Given the description of an element on the screen output the (x, y) to click on. 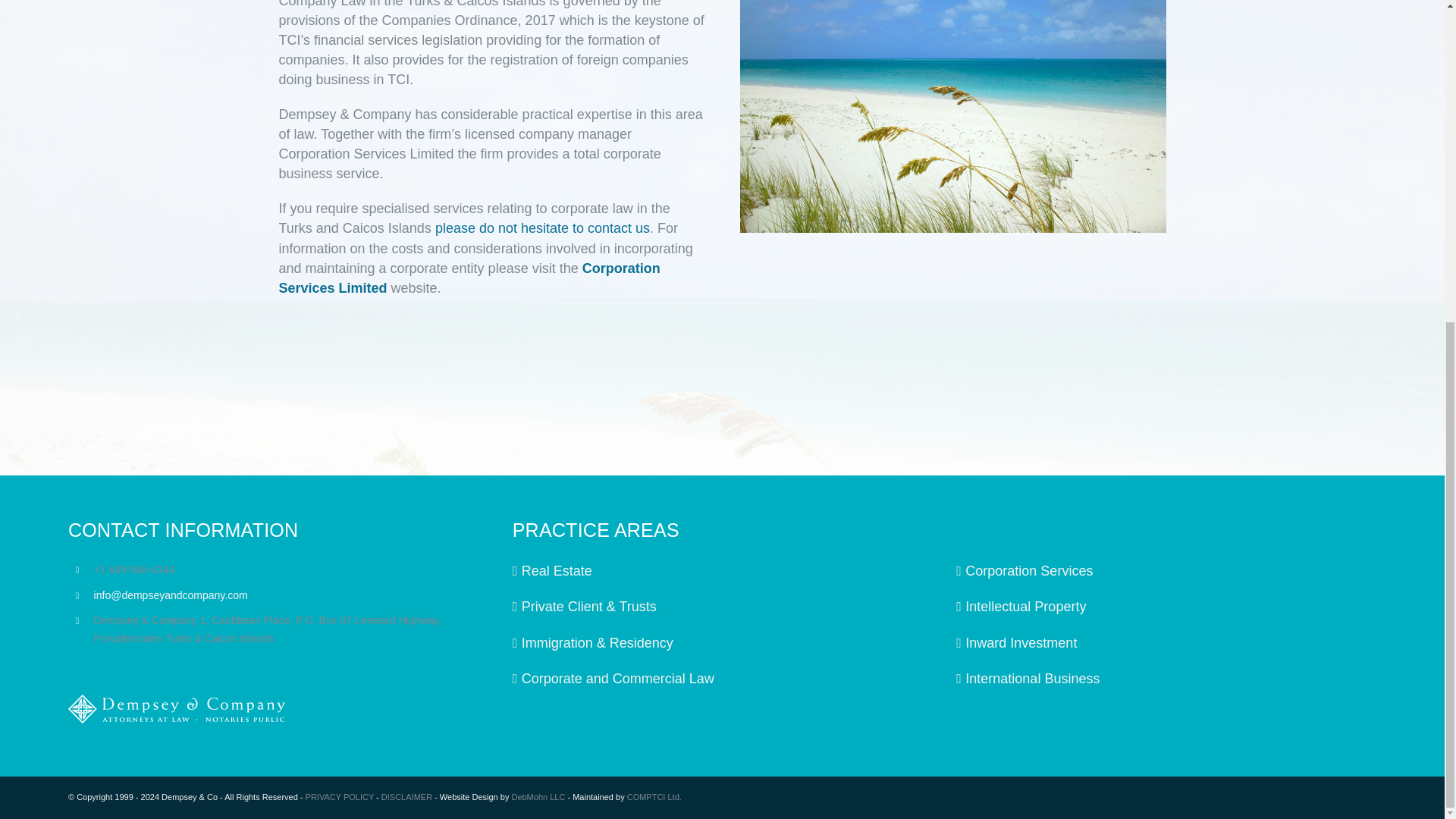
DISCLAIMER (406, 796)
Corporate and Commercial Law (722, 678)
please do not hesitate to contact us (542, 227)
website01 (952, 116)
Corporation Services Limited (468, 278)
International Business (1166, 678)
Corporation Services (1166, 570)
Intellectual Property (1166, 606)
COMPTCI Ltd. (654, 796)
PRIVACY POLICY (339, 796)
